Given the description of an element on the screen output the (x, y) to click on. 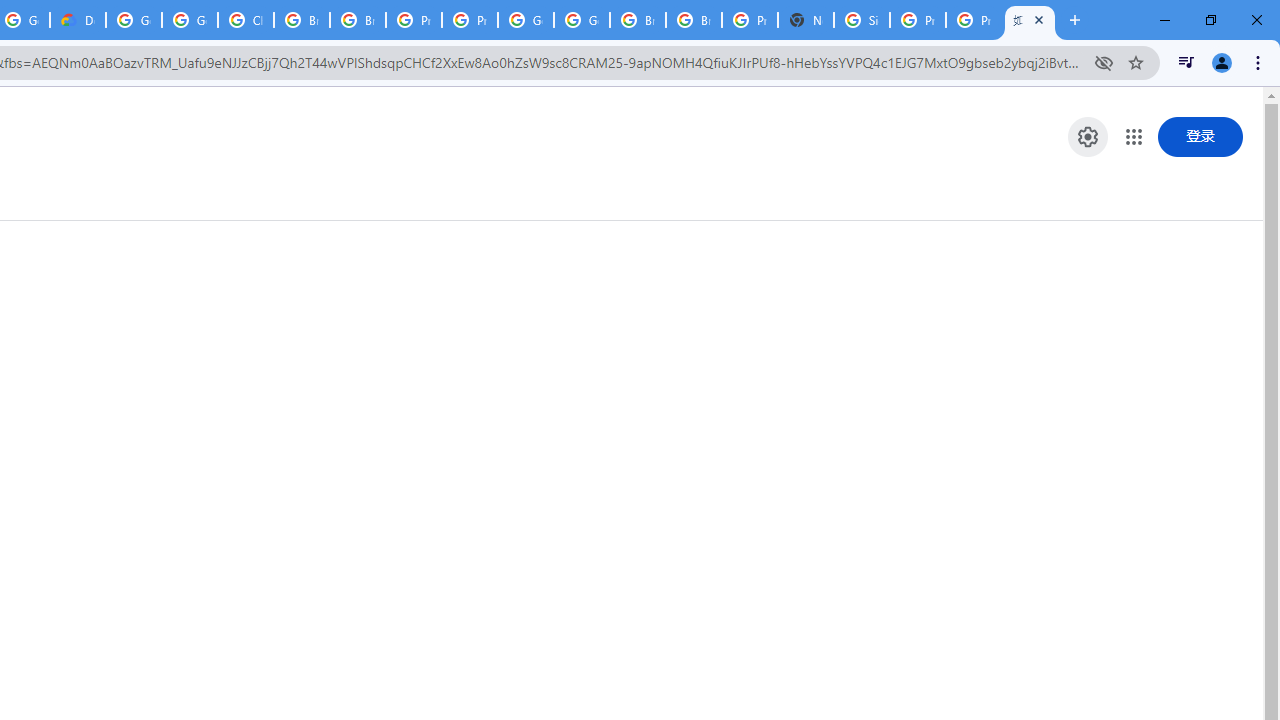
New Tab (806, 20)
Google Cloud Platform (525, 20)
Sign in - Google Accounts (861, 20)
Browse Chrome as a guest - Computer - Google Chrome Help (637, 20)
